Given the description of an element on the screen output the (x, y) to click on. 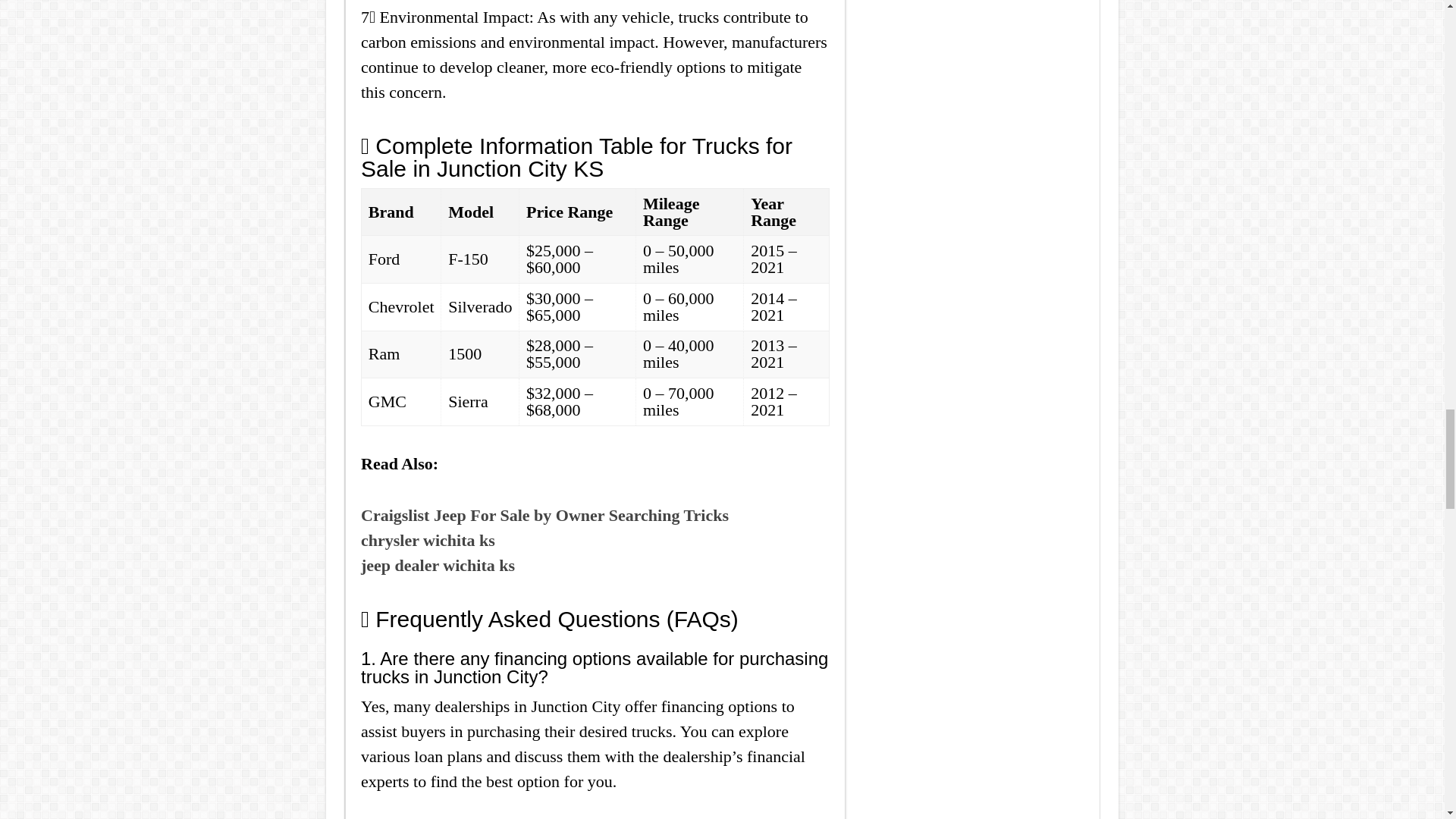
jeep dealer wichita ks (438, 565)
chrysler wichita ks (428, 539)
Craigslist Jeep For Sale by Owner Searching Tricks (545, 515)
Craigslist Jeep For Sale by Owner Searching Tricks (545, 515)
